Given the description of an element on the screen output the (x, y) to click on. 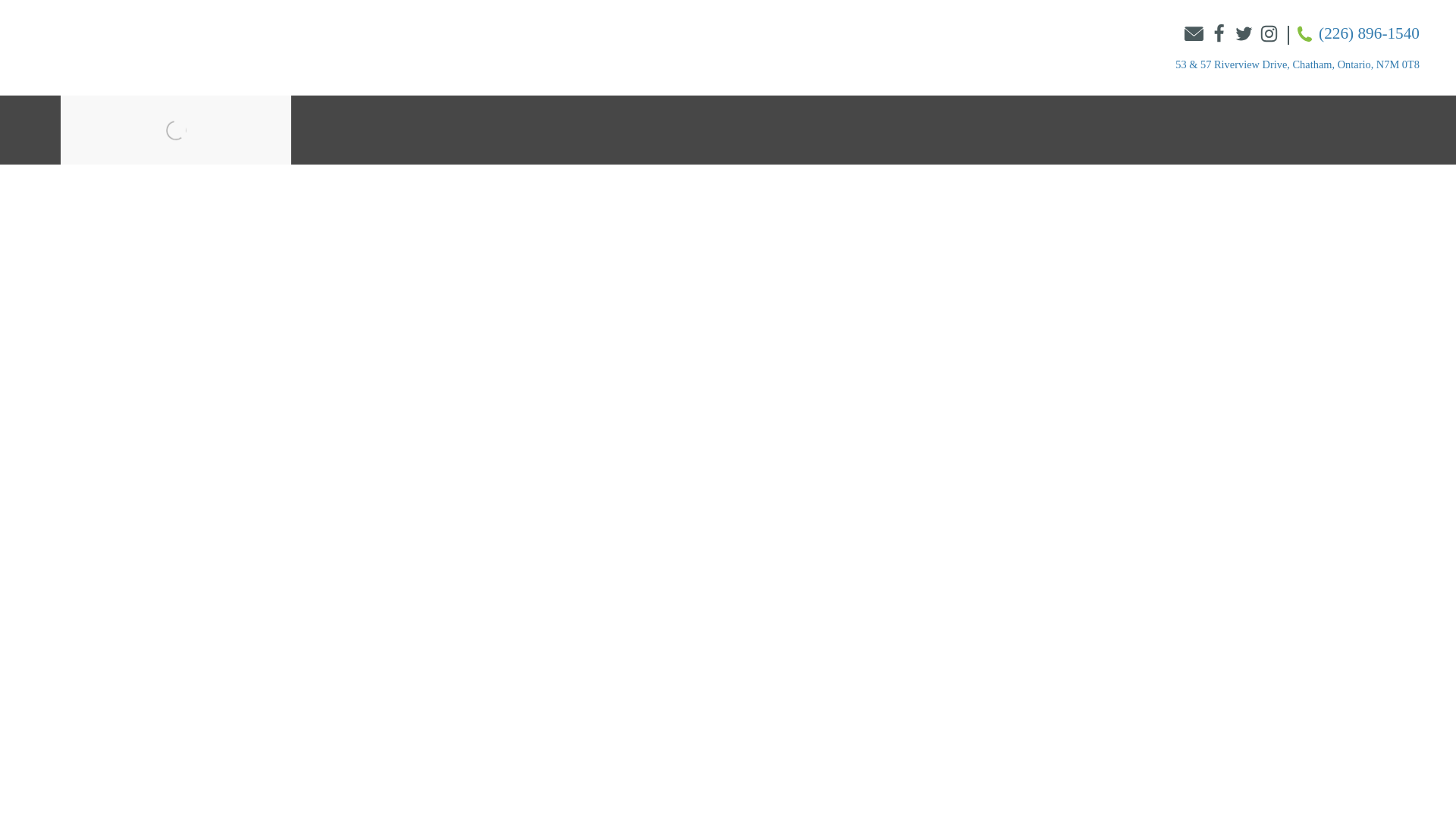
Instagram Icon (1268, 34)
Facebook Icon (1219, 34)
Instagram Icon (1268, 33)
Twitter Icon (1243, 33)
Mail Icon (1194, 33)
Facebook Icon (1218, 33)
Twitter Icon (1243, 34)
Phone Icon (1305, 33)
Mail Icon (1193, 34)
